Given the description of an element on the screen output the (x, y) to click on. 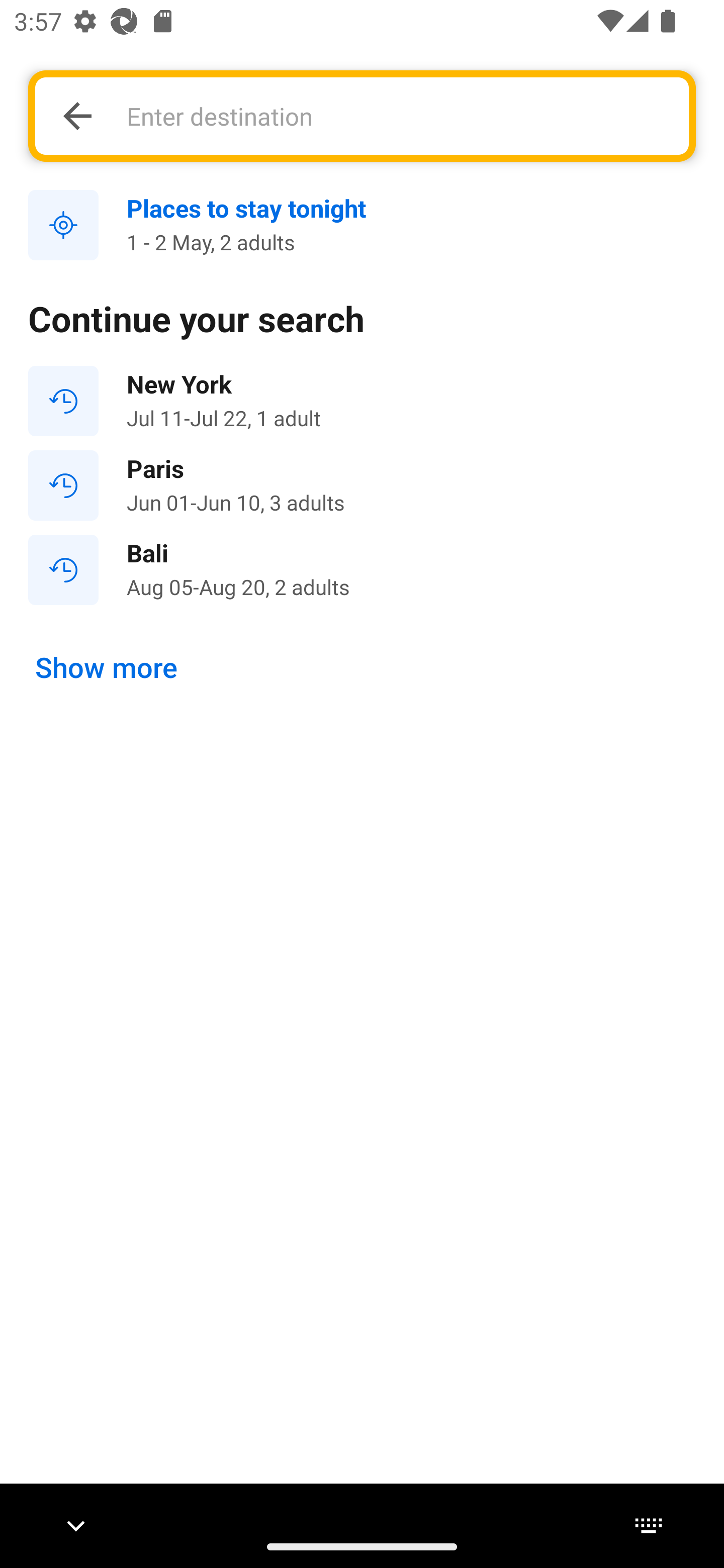
Enter destination (396, 115)
Places to stay tonight 1 - 2 May, 2 adults (362, 225)
New York Jul 11-Jul 22, 1 adult  (362, 401)
Paris Jun 01-Jun 10, 3 adults  (362, 485)
Bali Aug 05-Aug 20, 2 adults  (362, 569)
Show more (106, 667)
